Given the description of an element on the screen output the (x, y) to click on. 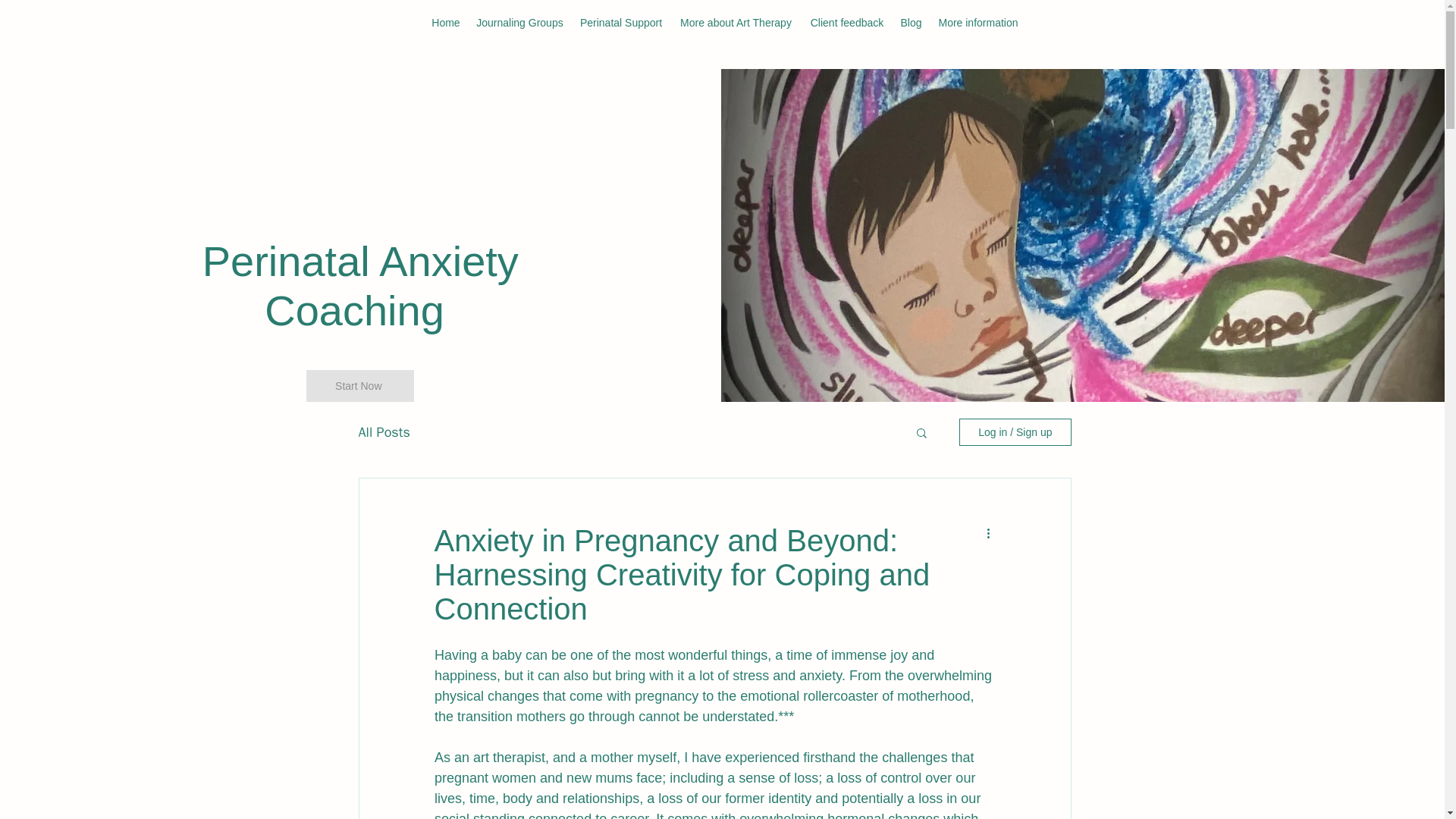
Start Now (359, 386)
All Posts (383, 432)
More about Art Therapy (735, 22)
More information (978, 22)
Blog (911, 22)
Home (445, 22)
Client feedback (847, 22)
Perinatal Support (620, 22)
Journaling Groups (519, 22)
